Given the description of an element on the screen output the (x, y) to click on. 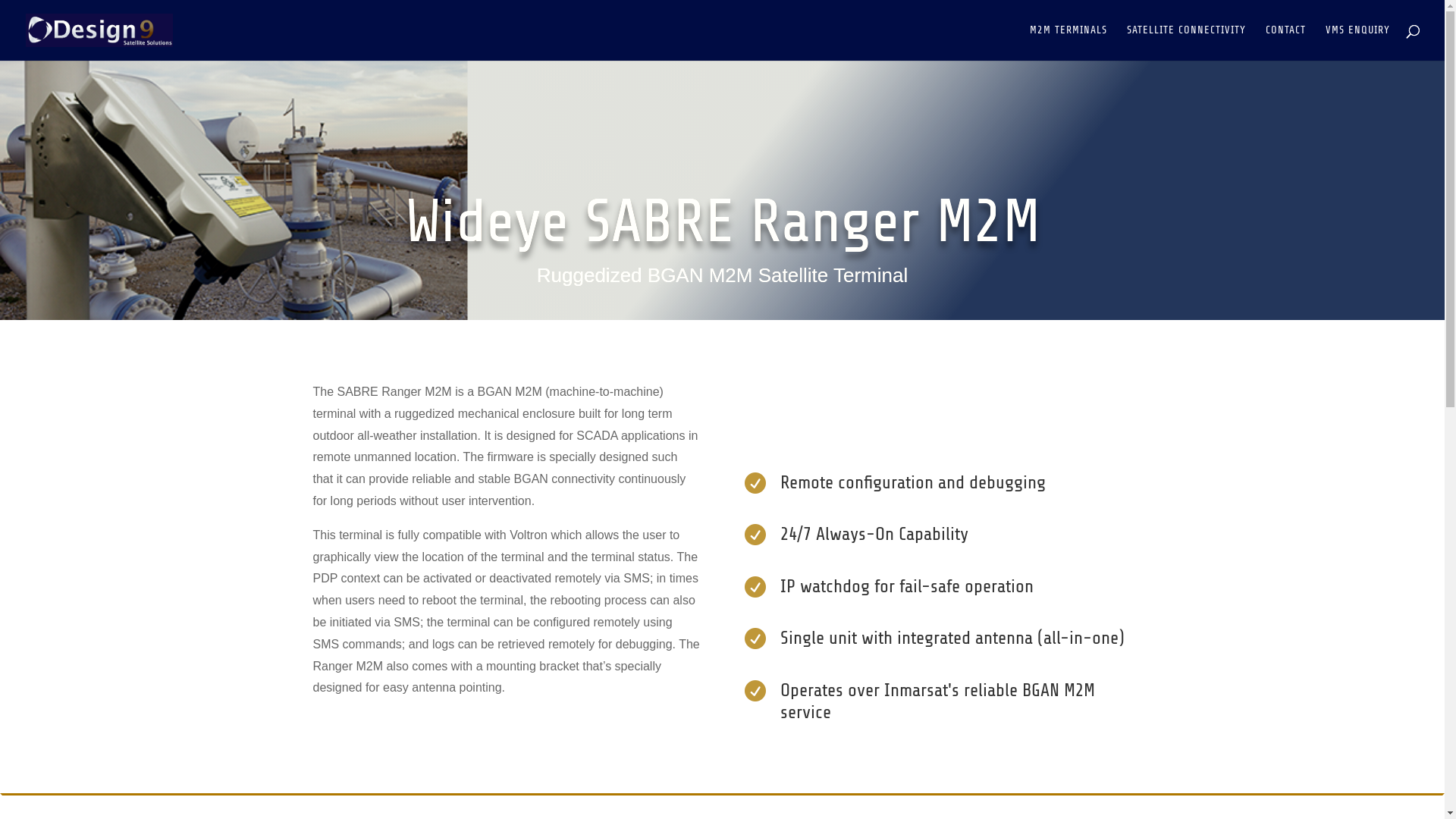
CONTACT Element type: text (1285, 42)
SATELLITE CONNECTIVITY Element type: text (1185, 42)
VMS ENQUIRY Element type: text (1357, 42)
M2M TERMINALS Element type: text (1068, 42)
